Given the description of an element on the screen output the (x, y) to click on. 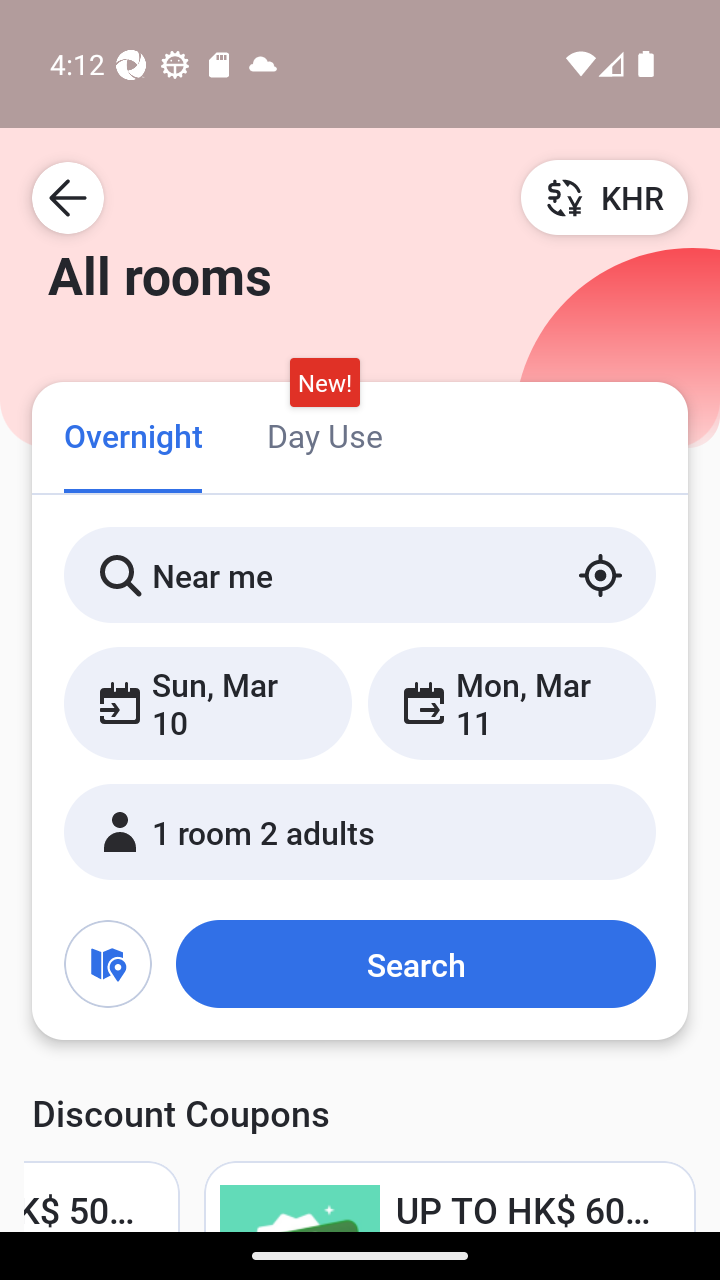
KHR (604, 197)
New! (324, 383)
Day Use (324, 434)
Near me (359, 575)
Sun, Mar 10 (208, 703)
Mon, Mar 11 (511, 703)
1 room 2 adults (359, 831)
Search (415, 964)
